Given the description of an element on the screen output the (x, y) to click on. 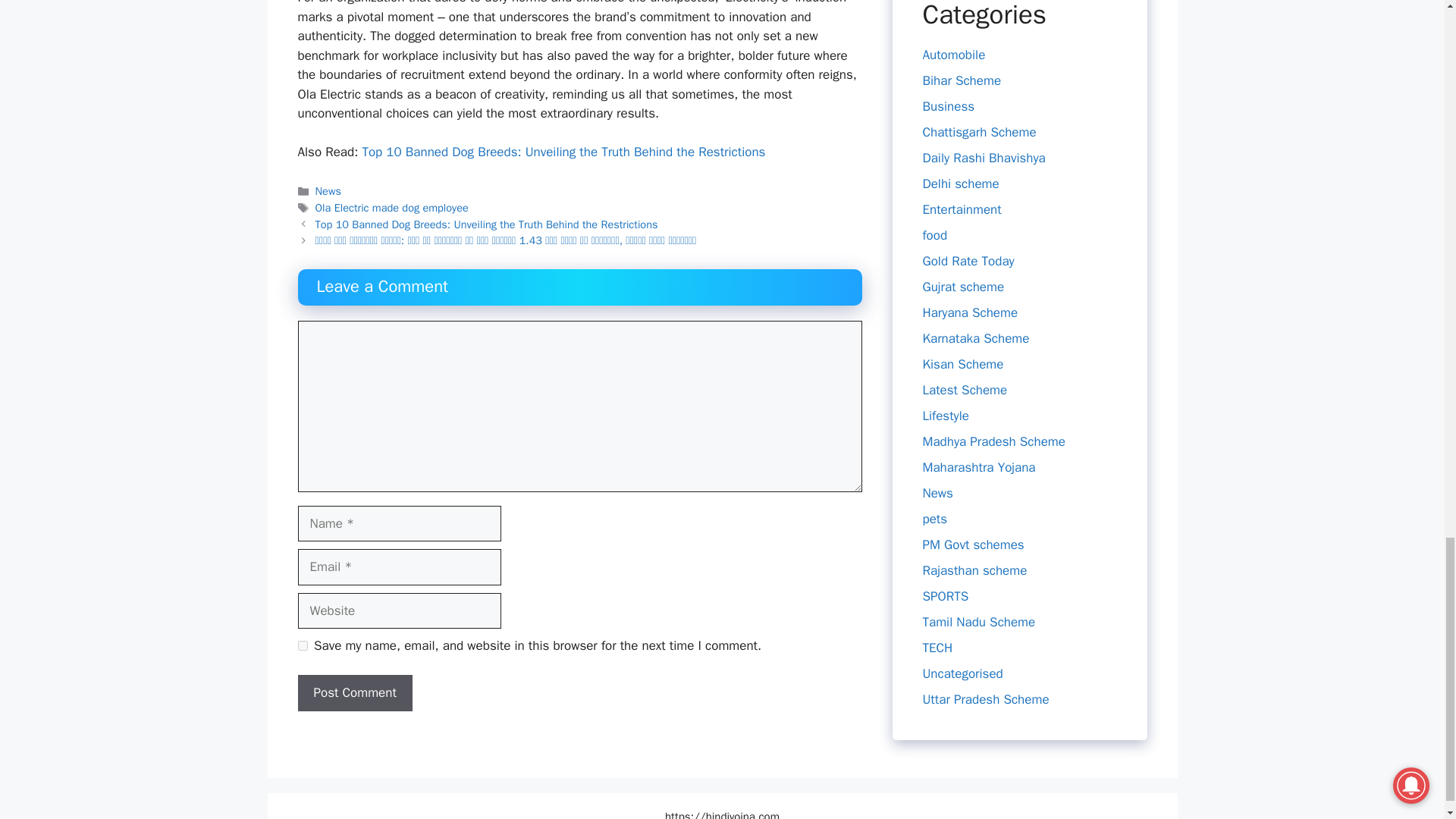
Post Comment (354, 692)
yes (302, 645)
News (327, 191)
Ola Electric made dog employee (391, 207)
Post Comment (354, 692)
